Given the description of an element on the screen output the (x, y) to click on. 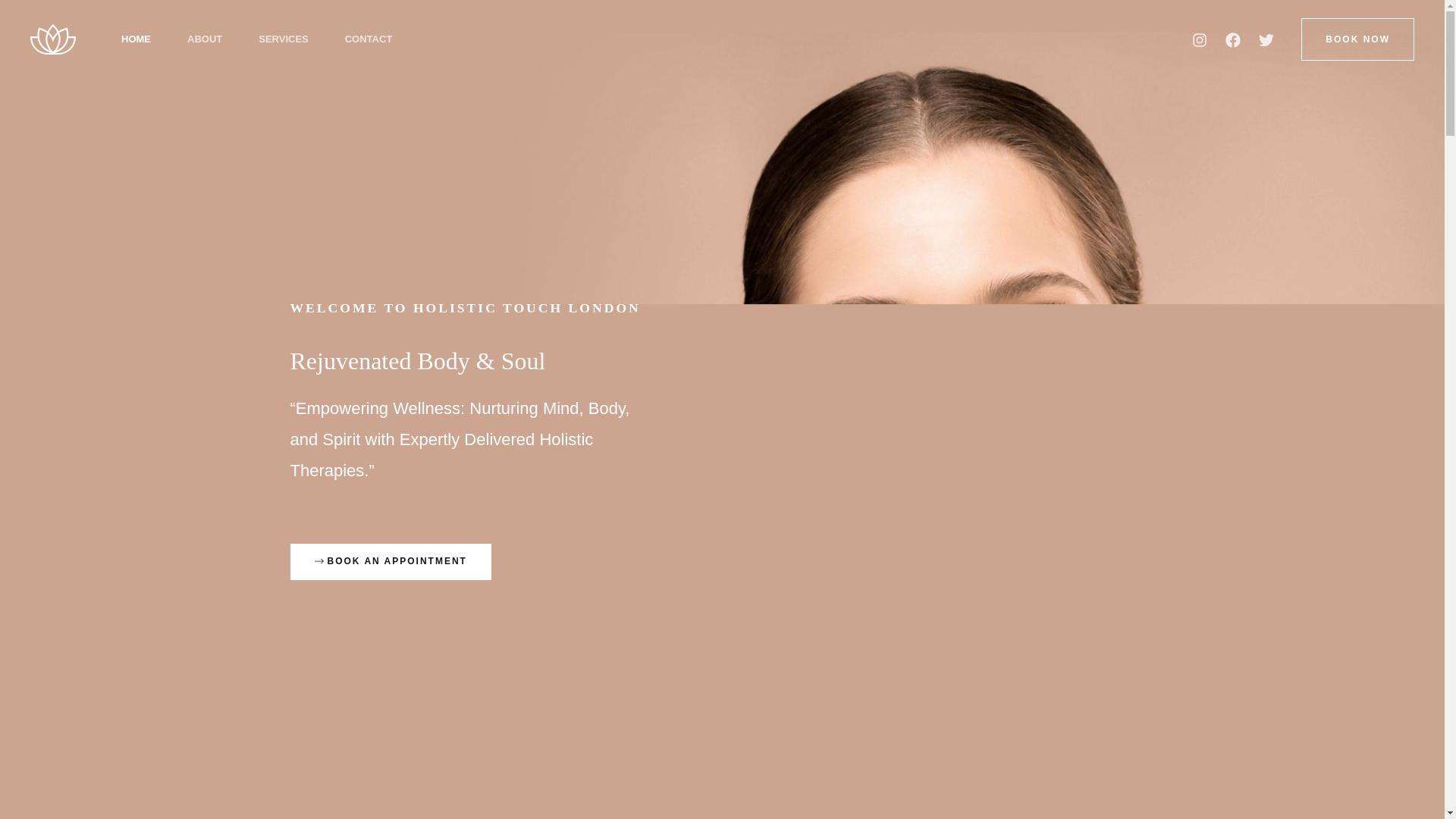
CONTACT (368, 39)
BOOK NOW (1357, 39)
ABOUT (204, 39)
BOOK AN APPOINTMENT (389, 561)
SERVICES (283, 39)
